Given the description of an element on the screen output the (x, y) to click on. 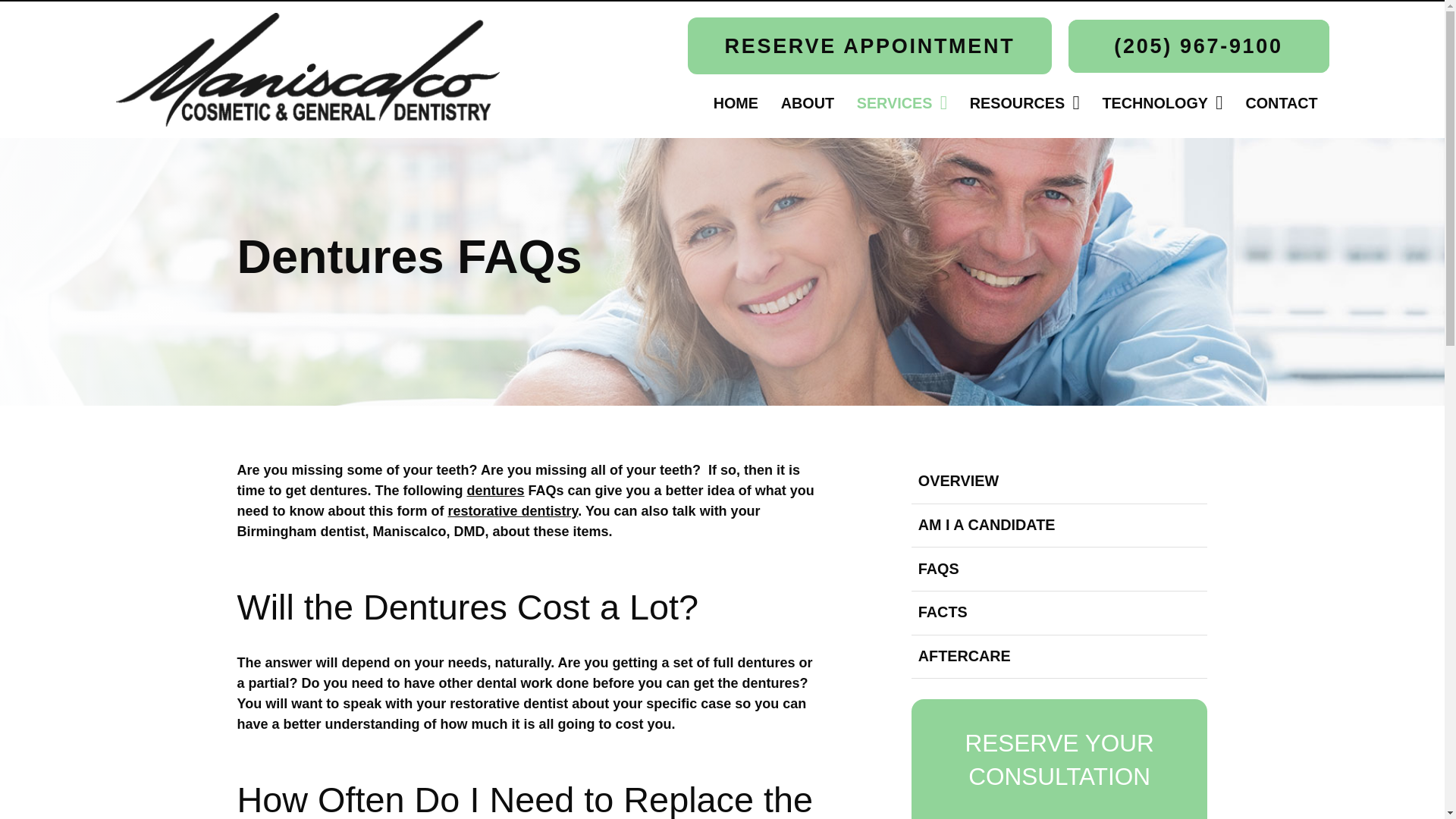
SERVICES (901, 103)
HOME (735, 103)
ABOUT (807, 103)
RESERVE APPOINTMENT (869, 46)
